Given the description of an element on the screen output the (x, y) to click on. 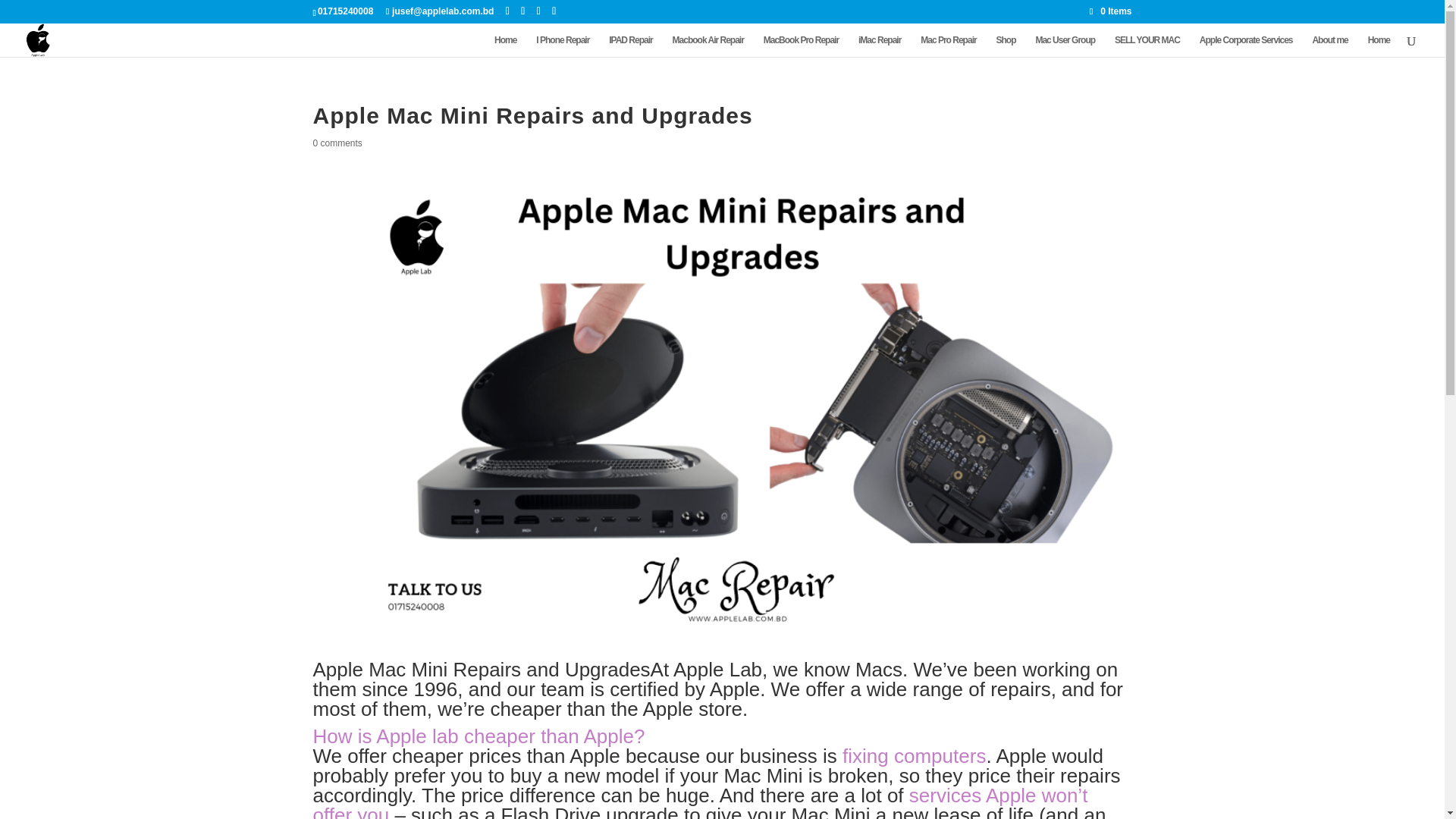
0 comments (337, 143)
Shop (1005, 45)
Home (505, 45)
IPAD Repair (630, 45)
SELL YOUR MAC (1147, 45)
Macbook Air Repair (708, 45)
Mac User Group (1064, 45)
0 Items (1110, 10)
Apple Corporate Services (1245, 45)
MacBook Pro Repair (800, 45)
